Given the description of an element on the screen output the (x, y) to click on. 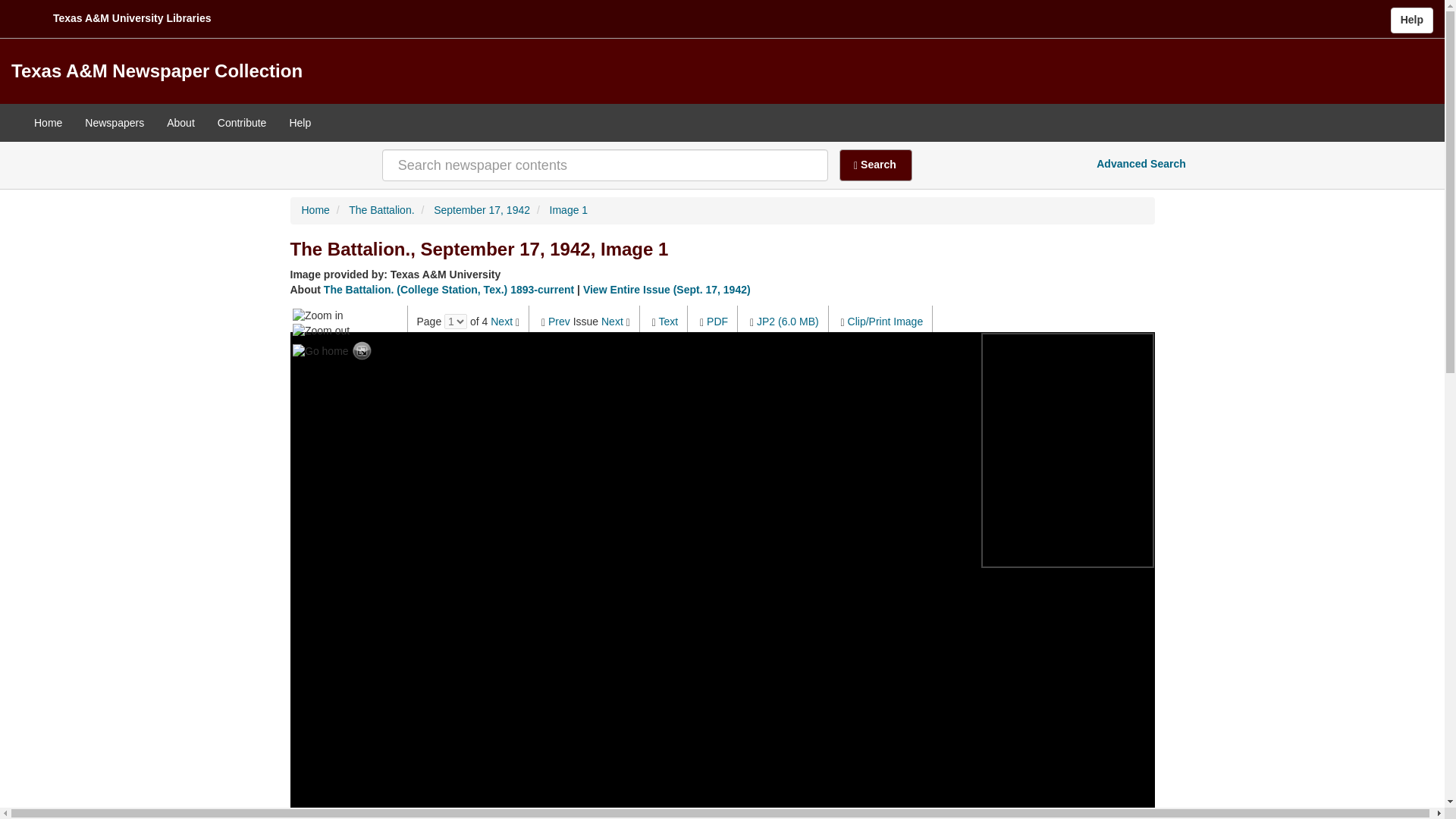
Home (315, 209)
Toggle full page (362, 351)
Zoom in (317, 314)
Next (501, 321)
Home (48, 122)
September 17, 1942 (481, 209)
Image 1 (569, 209)
Zoom out (320, 330)
Next (612, 321)
Prev (559, 321)
